Given the description of an element on the screen output the (x, y) to click on. 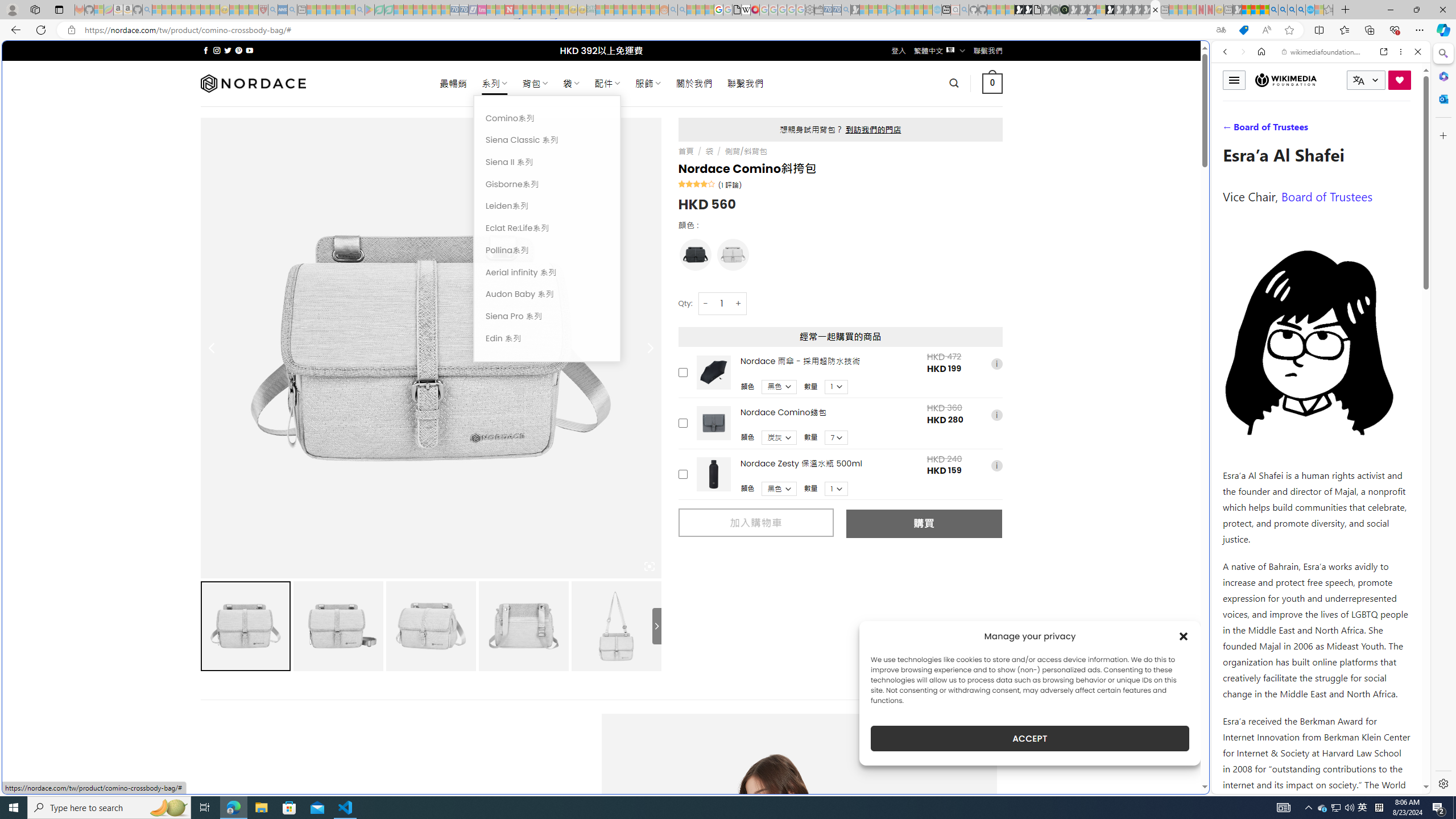
Donate now (1399, 80)
Follow on Instagram (216, 50)
Wiktionary (1315, 380)
Actions for this site (1370, 583)
Frequently visited (965, 151)
